Given the description of an element on the screen output the (x, y) to click on. 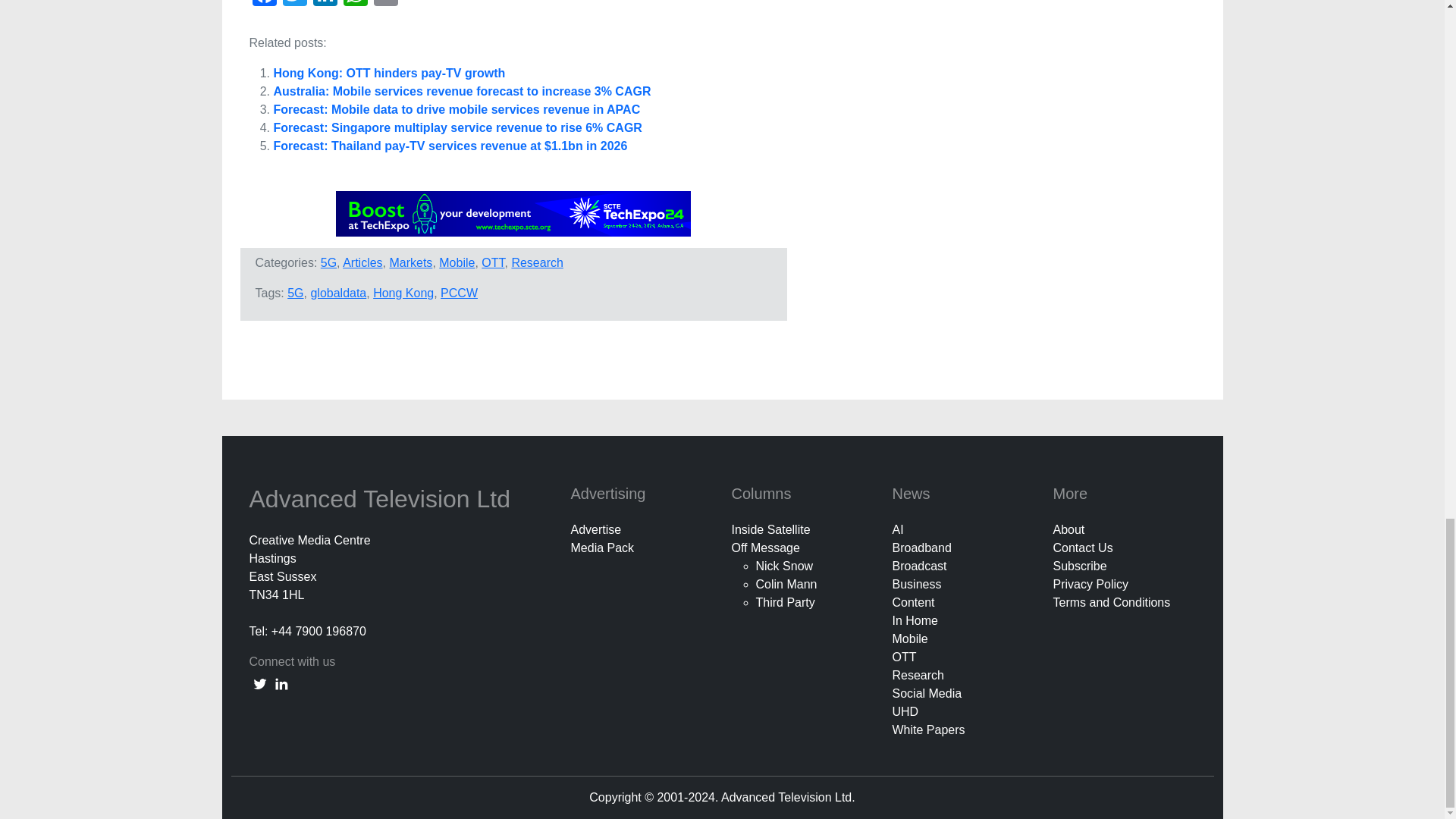
OTT (492, 262)
Hong Kong: OTT hinders pay-TV growth (389, 72)
Twitter (293, 4)
5G (294, 292)
Markets (410, 262)
WhatsApp (354, 4)
Email (384, 4)
Hong Kong (402, 292)
Hong Kong: OTT hinders pay-TV growth (389, 72)
PCCW (459, 292)
LinkedIn (323, 4)
Email (384, 4)
Mobile (456, 262)
